Given the description of an element on the screen output the (x, y) to click on. 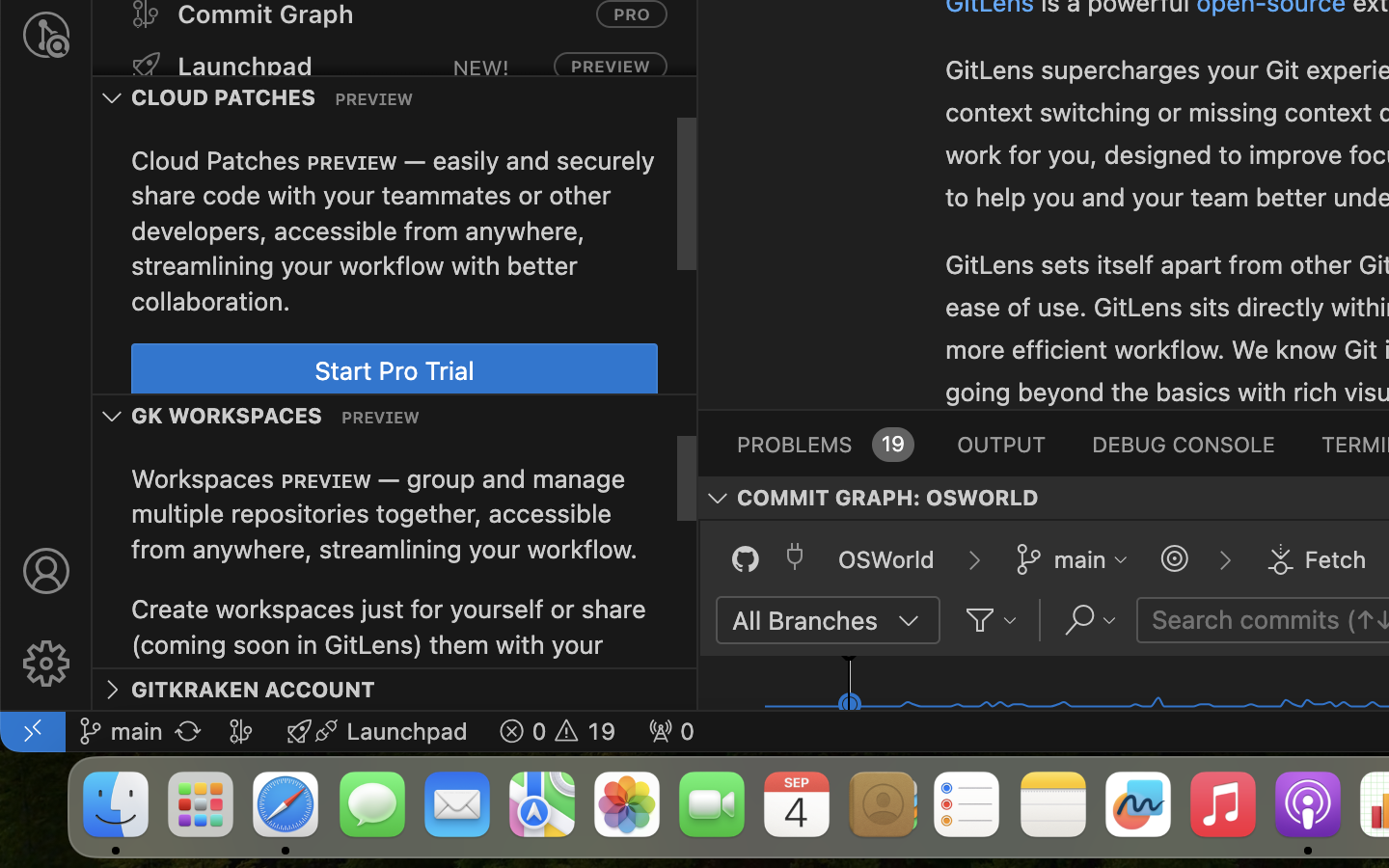
EA Element type: AXStaticText (846, 350)
0 OUTPUT Element type: AXRadioButton (1001, 443)
